Given the description of an element on the screen output the (x, y) to click on. 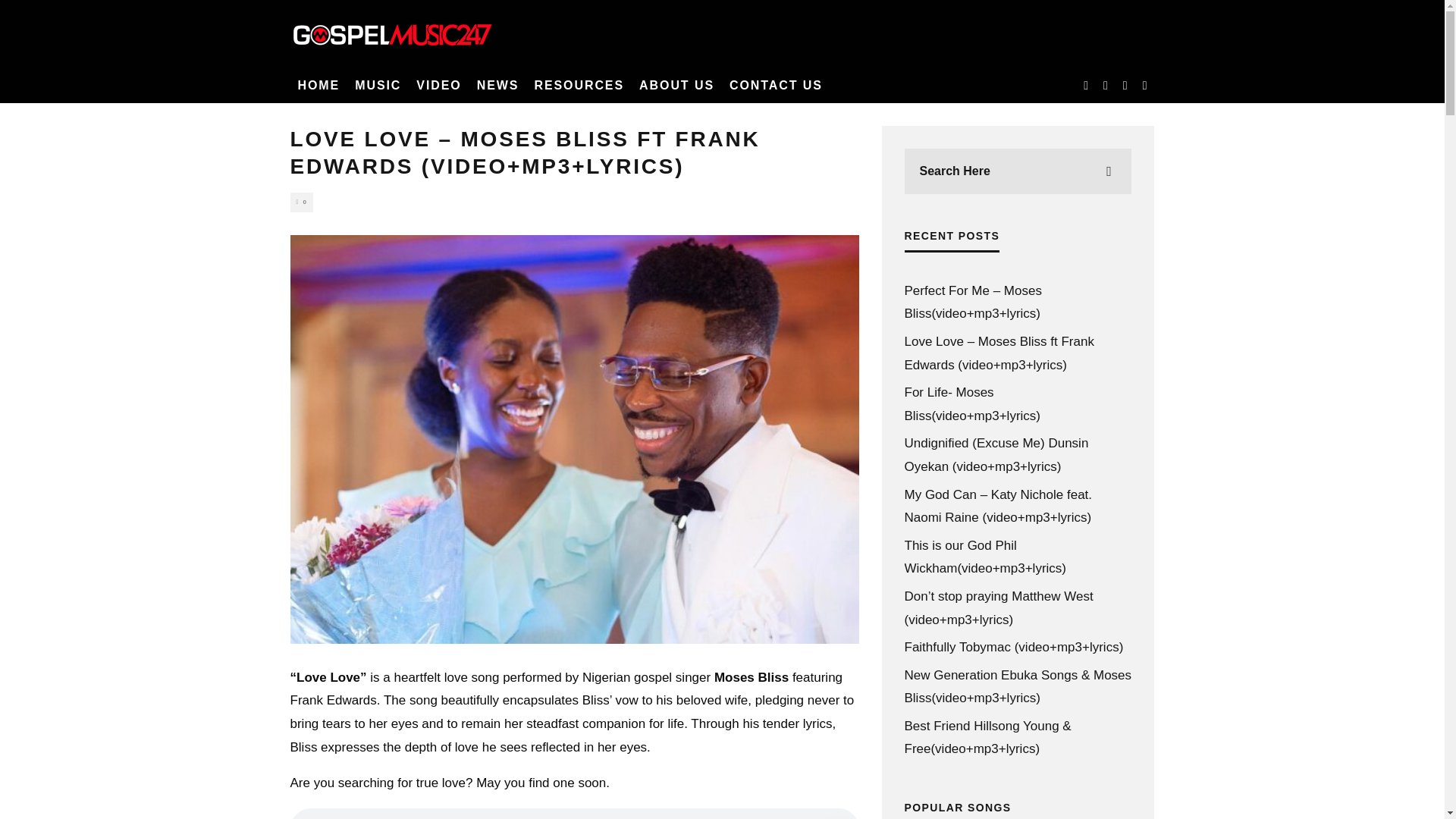
HOME (318, 85)
VIDEO (438, 85)
CONTACT US (775, 85)
NEWS (497, 85)
ABOUT US (676, 85)
MUSIC (378, 85)
0 (301, 202)
RESOURCES (578, 85)
